Given the description of an element on the screen output the (x, y) to click on. 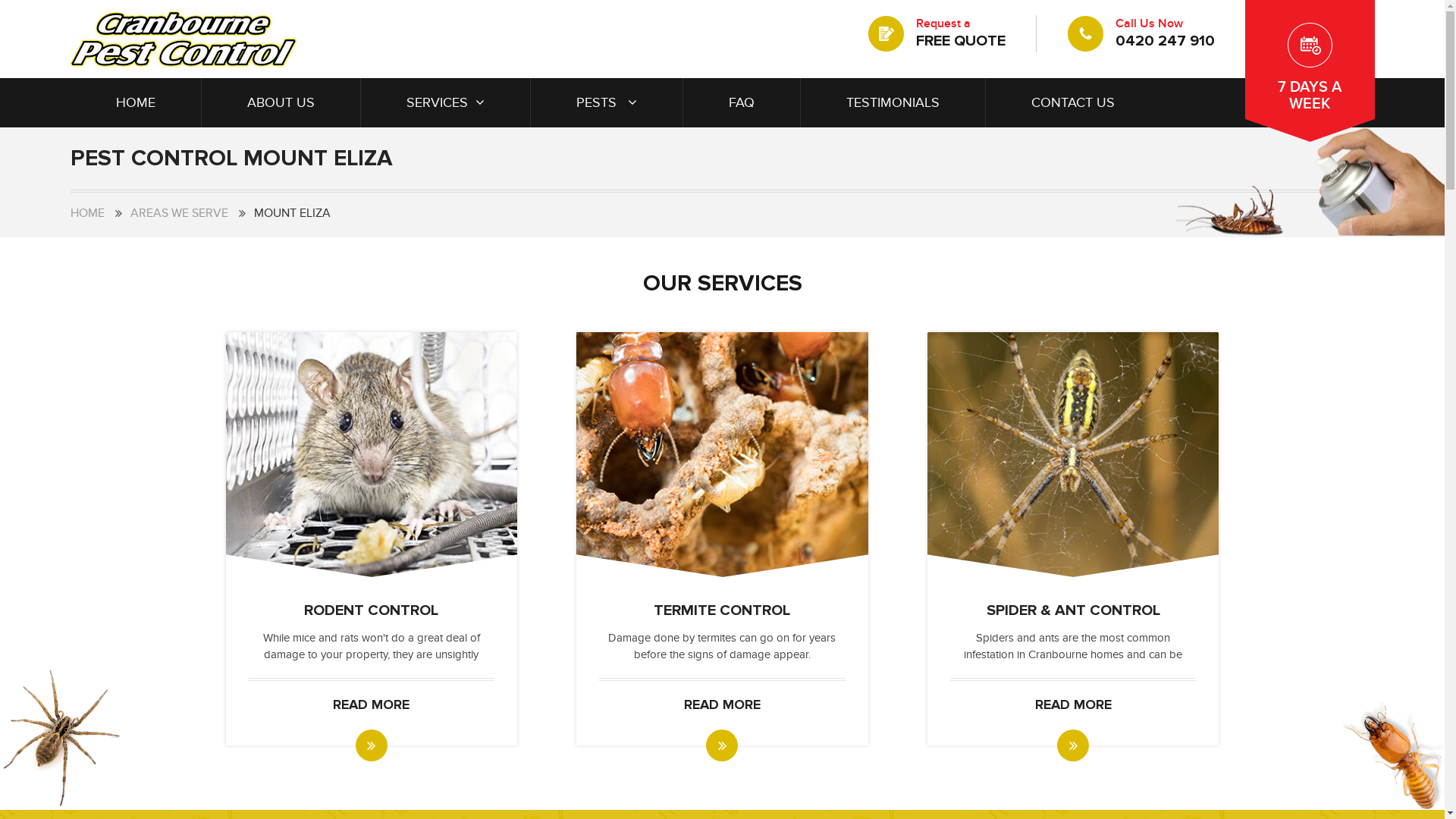
Request a
FREE QUOTE Element type: text (936, 32)
FAQ Element type: text (741, 102)
SERVICES Element type: text (445, 102)
TESTIMONIALS Element type: text (892, 102)
CONTACT US Element type: text (1072, 102)
Call Us Now
0420 247 910 Element type: text (1140, 32)
PESTS Element type: text (606, 102)
HOME Element type: text (86, 212)
ABOUT US Element type: text (280, 102)
HOME Element type: text (134, 102)
AREAS WE SERVE Element type: text (179, 212)
